Given the description of an element on the screen output the (x, y) to click on. 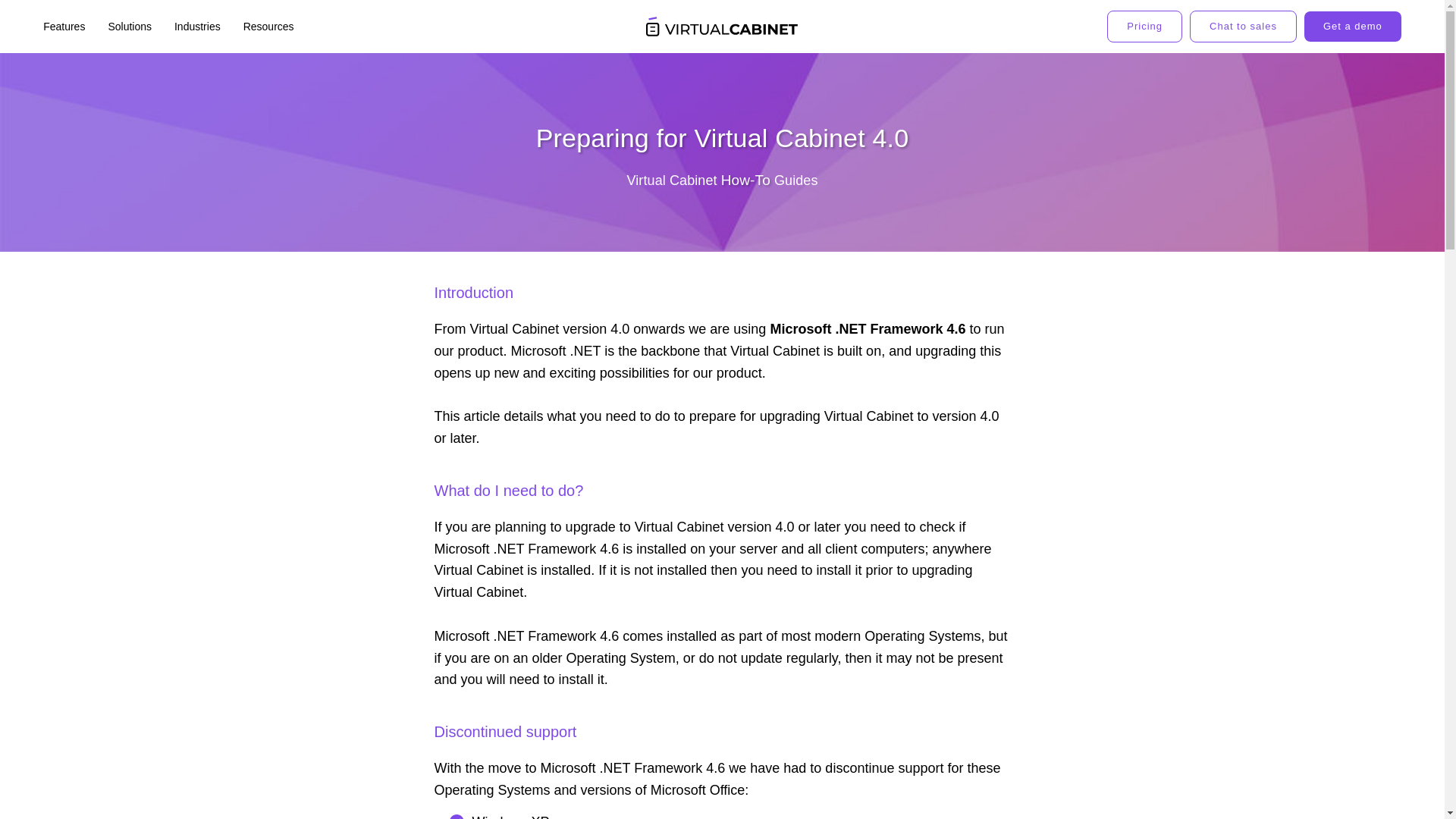
Pricing (1144, 26)
Get a demo (1352, 26)
Chat to sales (1243, 26)
